Given the description of an element on the screen output the (x, y) to click on. 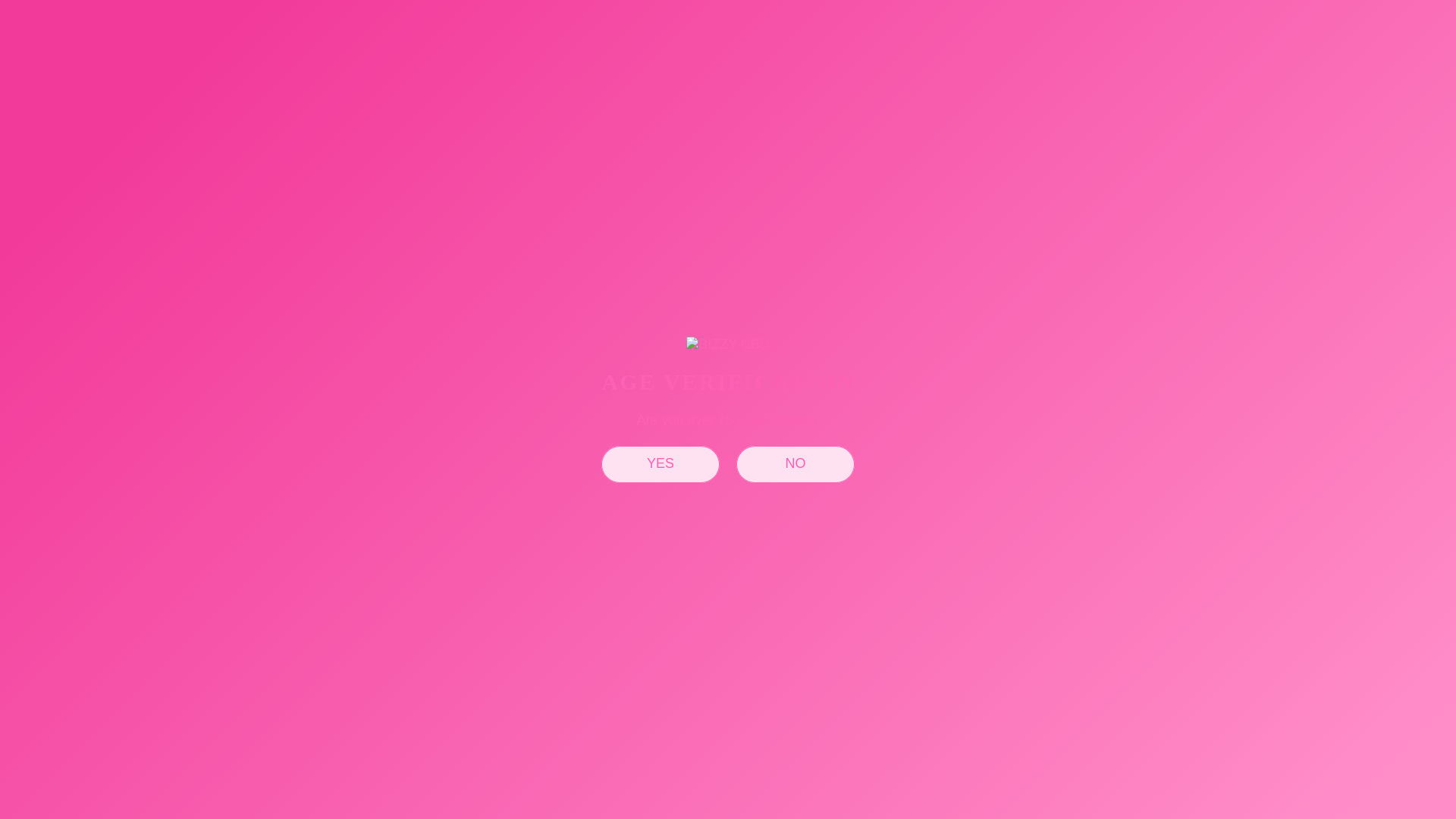
SEARCH OUR SITE (1362, 68)
SHOP (589, 69)
CBD 101 (670, 69)
CLUB BIZZY (764, 69)
REVIEWS (1400, 68)
LOG IN (850, 69)
